Given the description of an element on the screen output the (x, y) to click on. 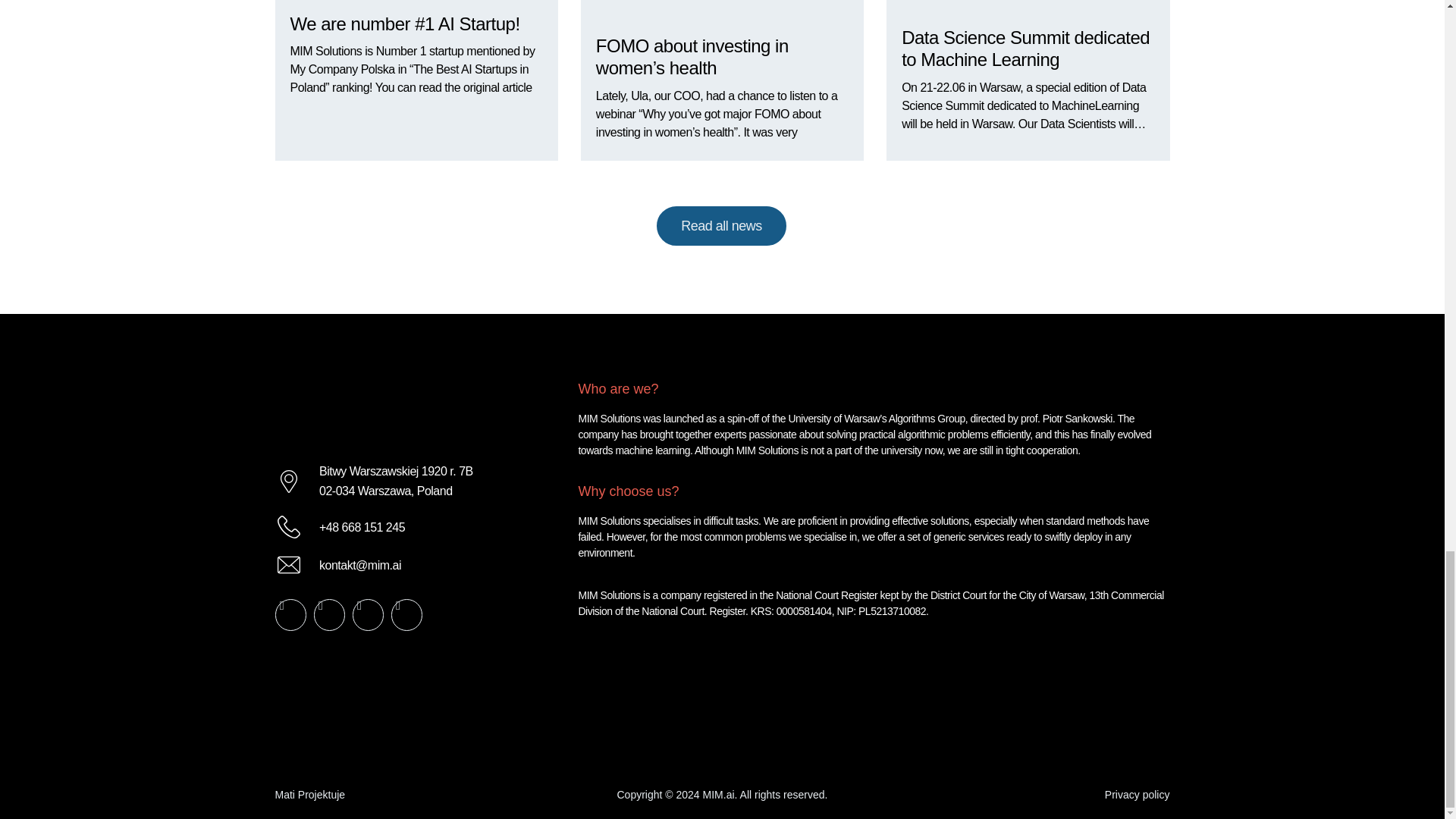
51.00-Design-Rush-Accredited-Badge3 (960, 748)
